Given the description of an element on the screen output the (x, y) to click on. 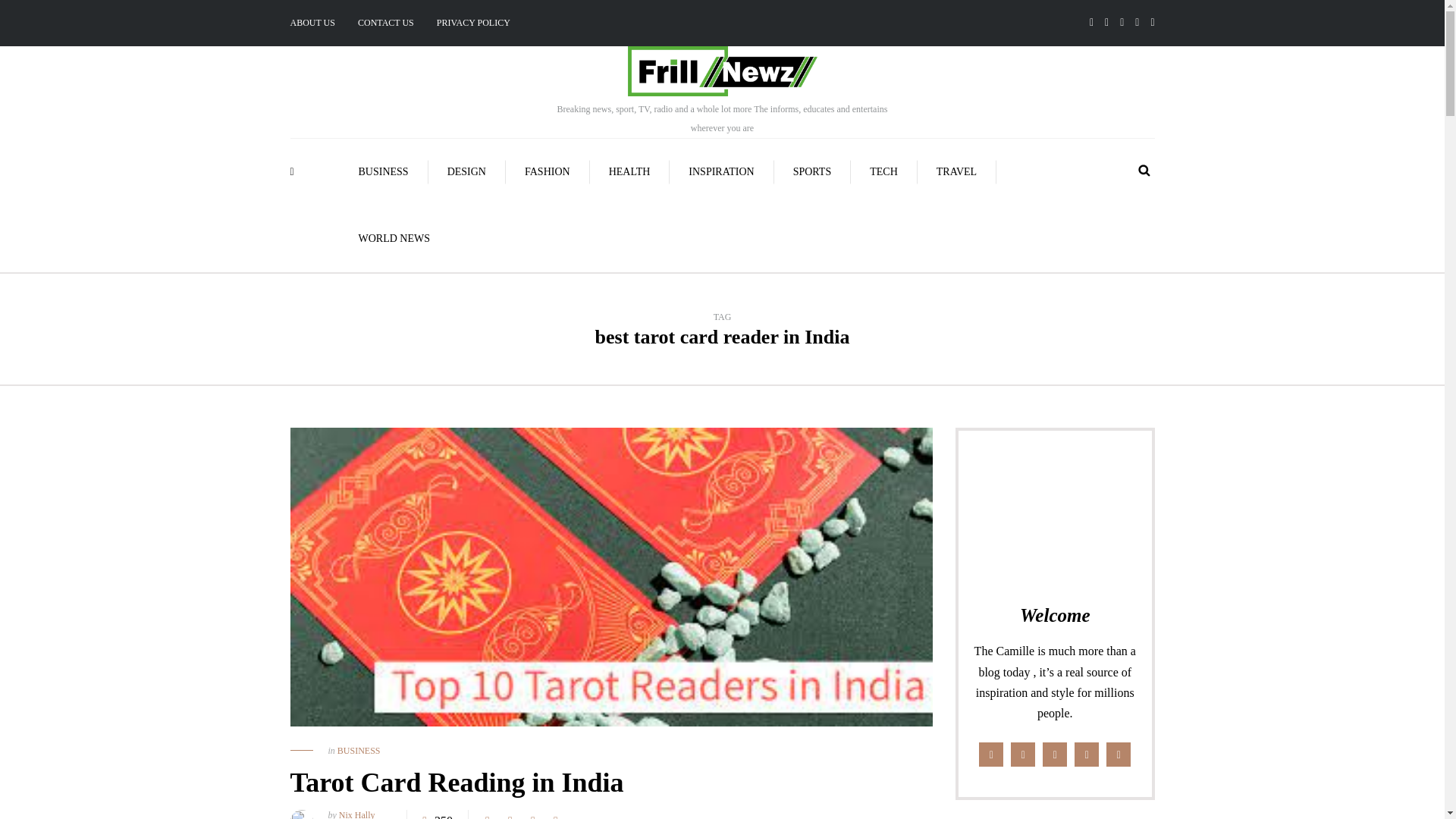
FASHION (547, 171)
Pin this (555, 814)
PRIVACY POLICY (473, 22)
DESIGN (466, 171)
INSPIRATION (721, 171)
CONTACT US (385, 22)
Nix Hally (357, 814)
SPORTS (812, 171)
TRAVEL (956, 171)
WORLD NEWS (394, 238)
